Given the description of an element on the screen output the (x, y) to click on. 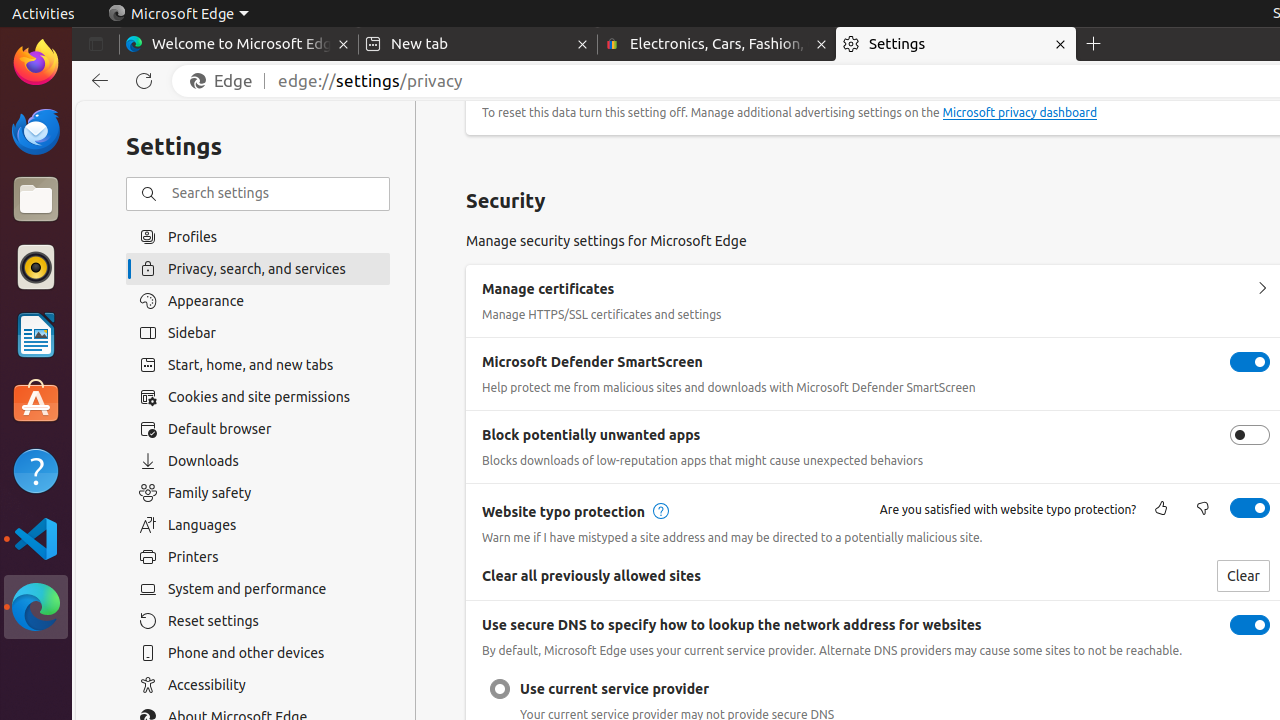
Profiles Element type: tree-item (258, 236)
Microsoft Edge Element type: menu (178, 13)
Visual Studio Code Element type: push-button (36, 538)
Privacy, search, and services Element type: tree-item (258, 268)
Microsoft Defender SmartScreen Element type: check-box (1250, 362)
